Given the description of an element on the screen output the (x, y) to click on. 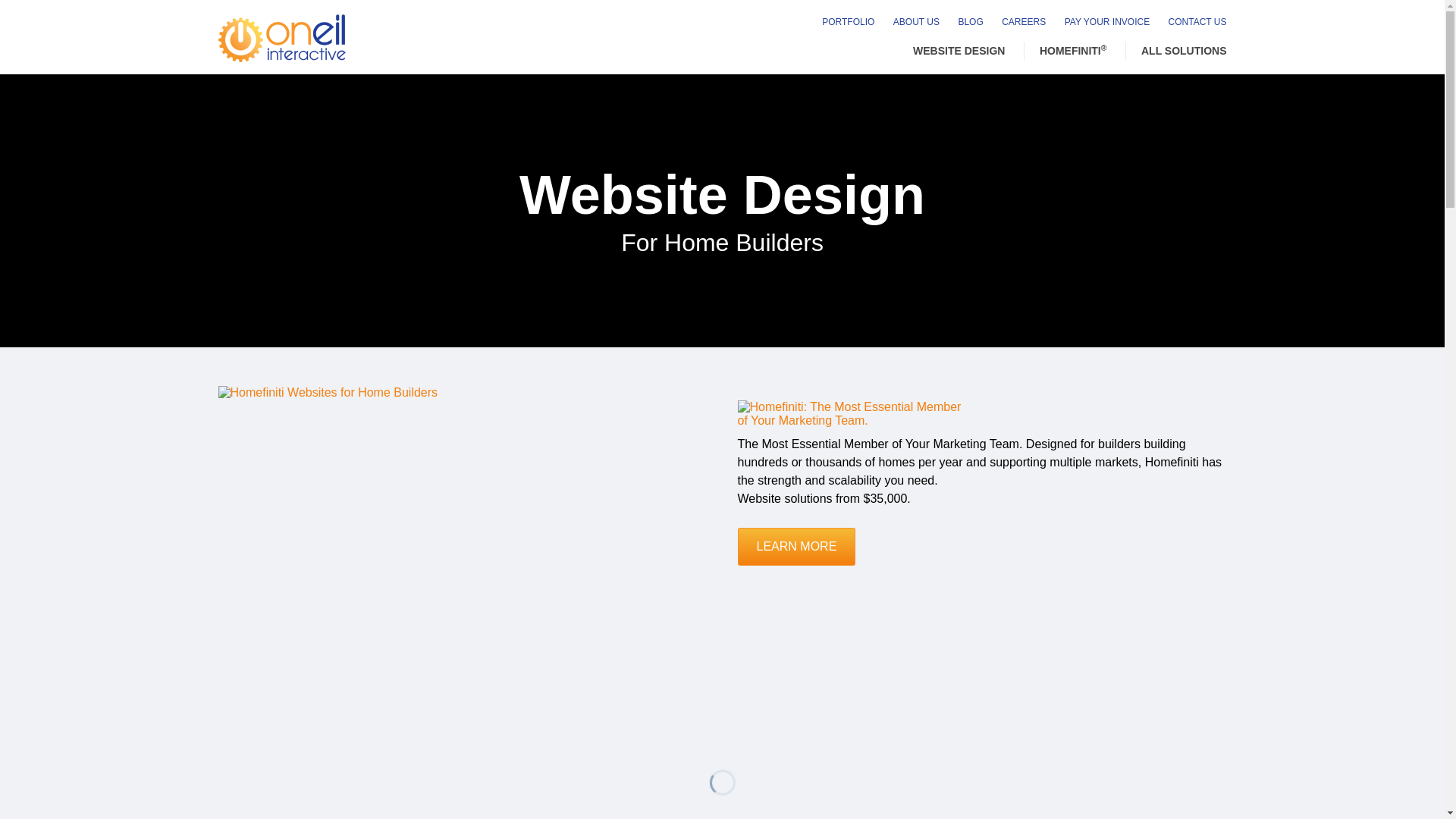
WEBSITE DESIGN (959, 50)
PAY YOUR INVOICE (1099, 21)
ABOUT US (908, 21)
BLOG (962, 21)
PORTFOLIO (840, 21)
ALL SOLUTIONS (1176, 50)
LEARN MORE (796, 546)
CAREERS (1016, 21)
CONTACT US (1190, 21)
